Given the description of an element on the screen output the (x, y) to click on. 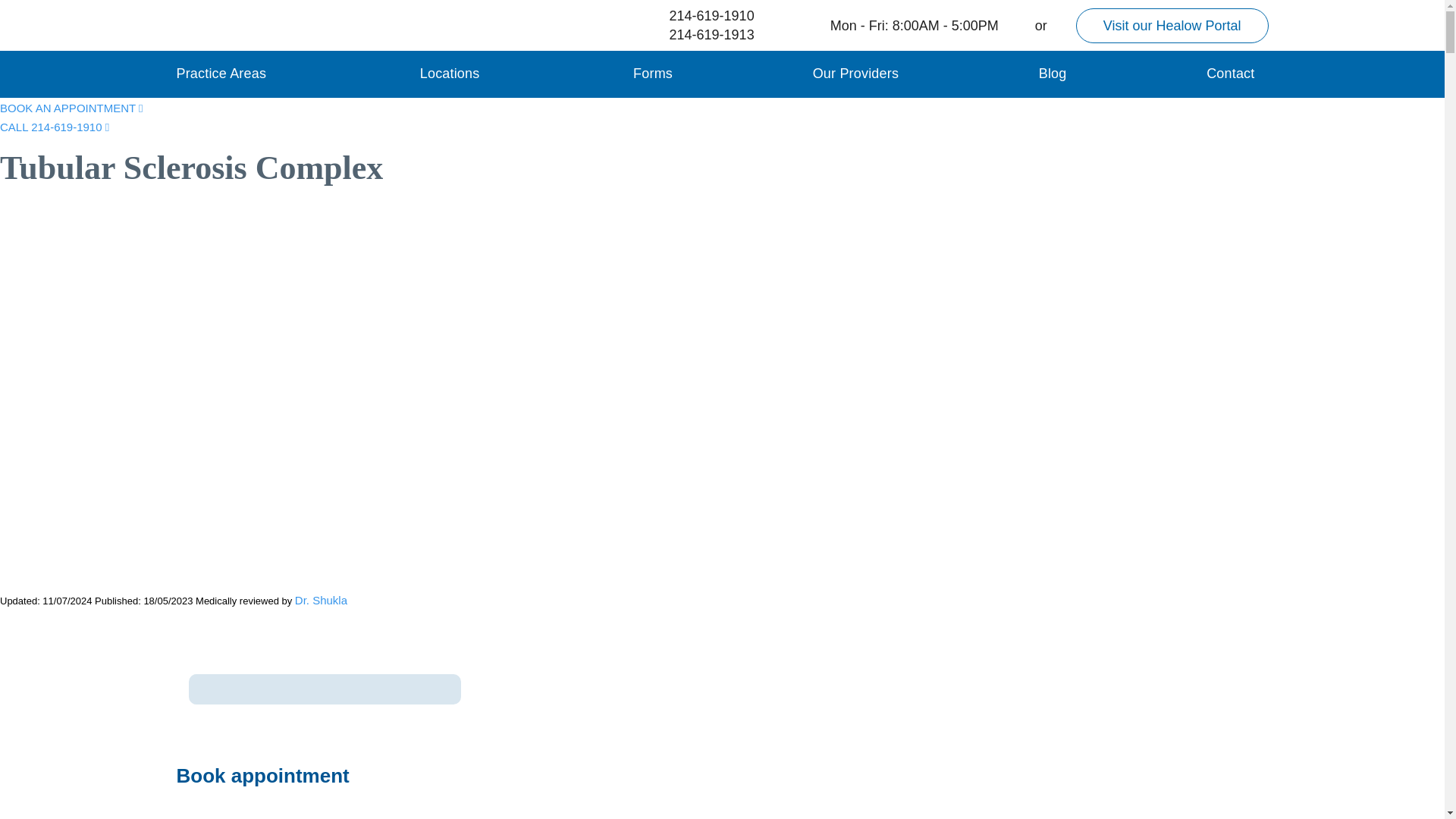
Locations (450, 73)
Practice Areas (221, 73)
214-619-1913 (698, 34)
Visit our Healow Portal (1171, 24)
214-619-1910 (698, 15)
Forms (652, 73)
